Given the description of an element on the screen output the (x, y) to click on. 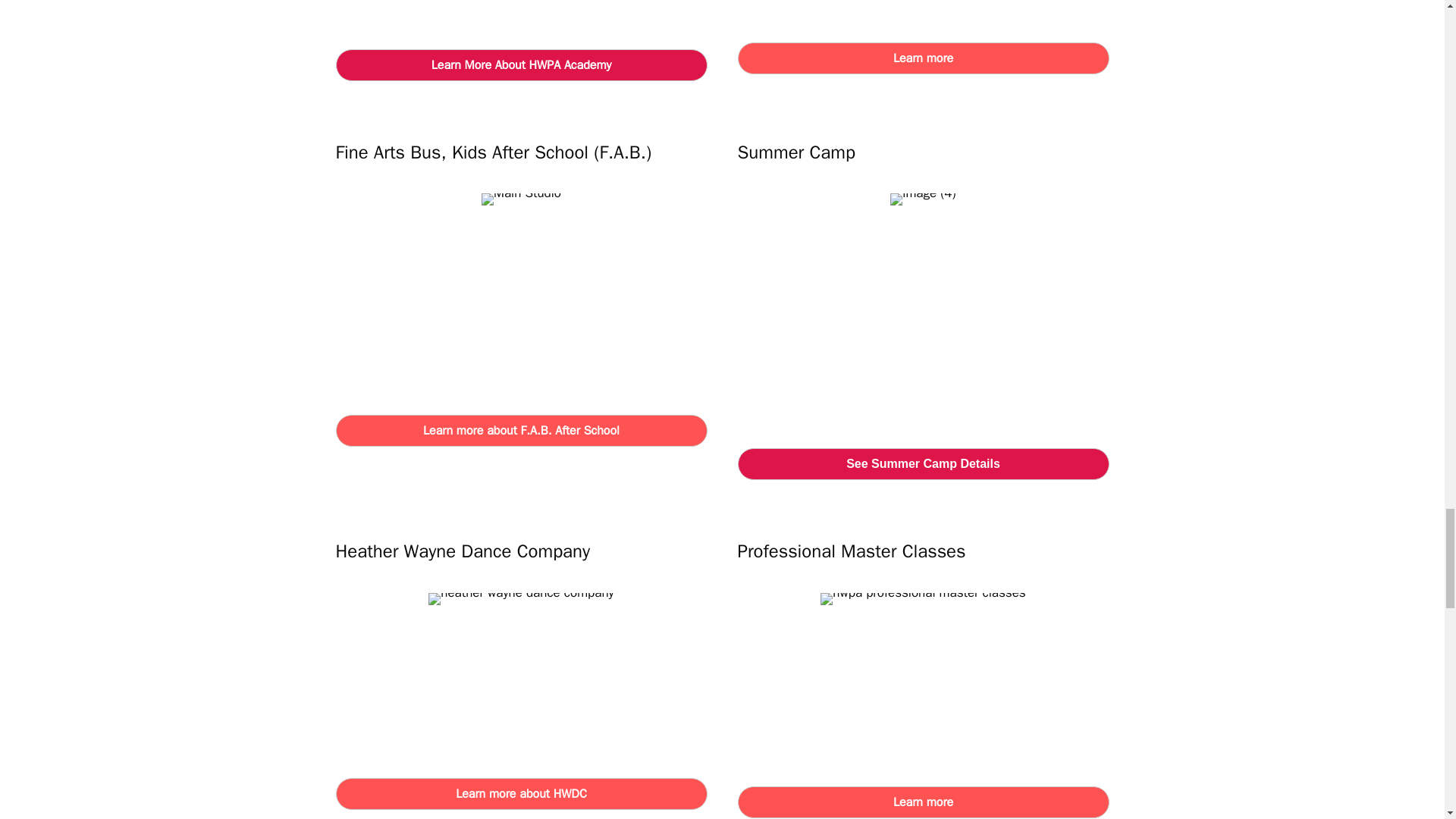
heather wayne dance company (521, 598)
hwpa professional master classes (923, 598)
Main Studio (520, 199)
